Given the description of an element on the screen output the (x, y) to click on. 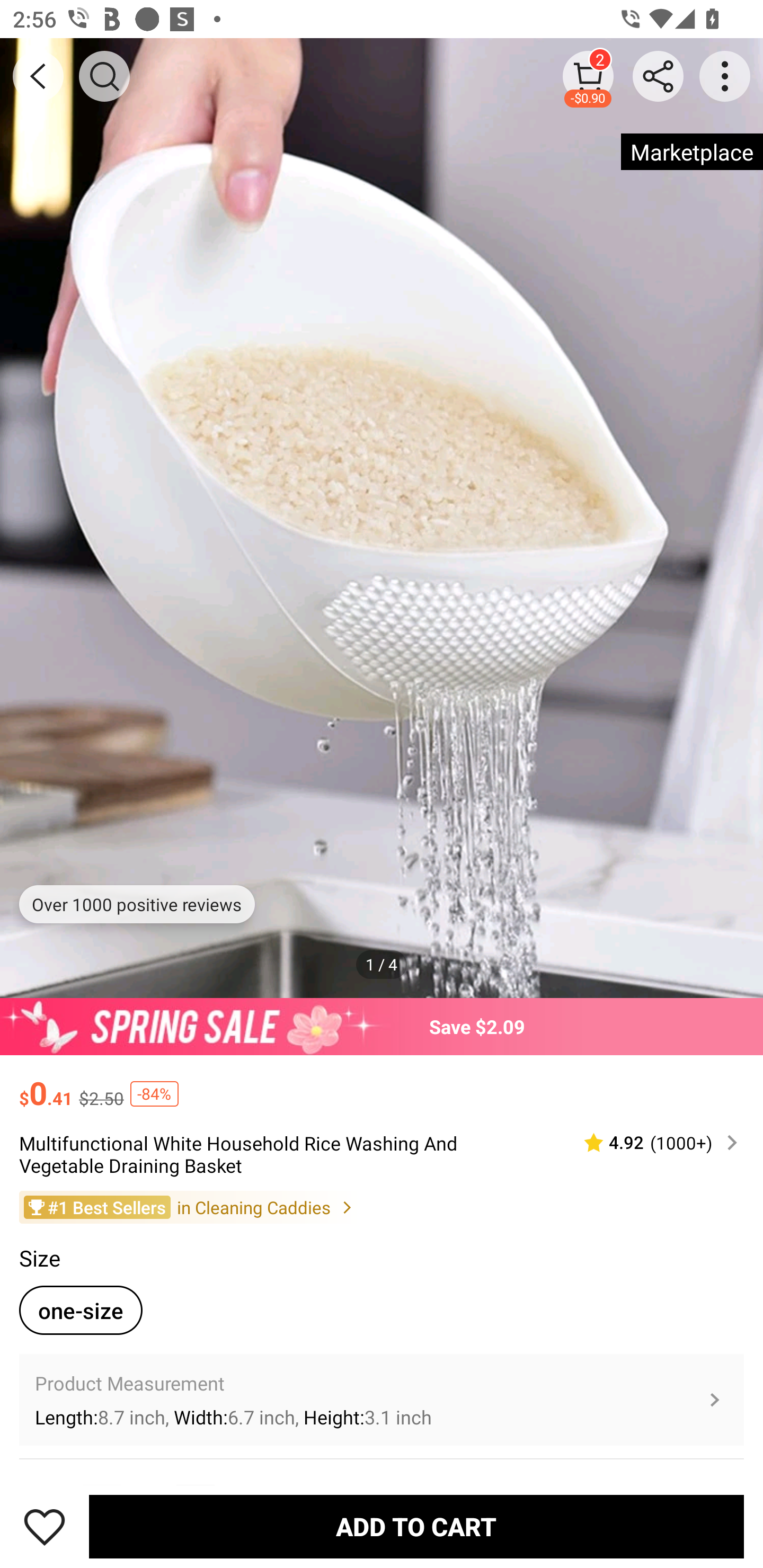
BACK (38, 75)
2 -$0.90 (588, 75)
1 / 4 (381, 964)
Save $2.09 (381, 1026)
$0.41 $2.50 -84% (381, 1084)
4.92 (1000‎+) (653, 1142)
#1 Best Sellers in Cleaning Caddies (381, 1206)
Size (39, 1258)
one-size one-sizeselected option (80, 1309)
ADD TO CART (416, 1526)
Save (44, 1526)
